Given the description of an element on the screen output the (x, y) to click on. 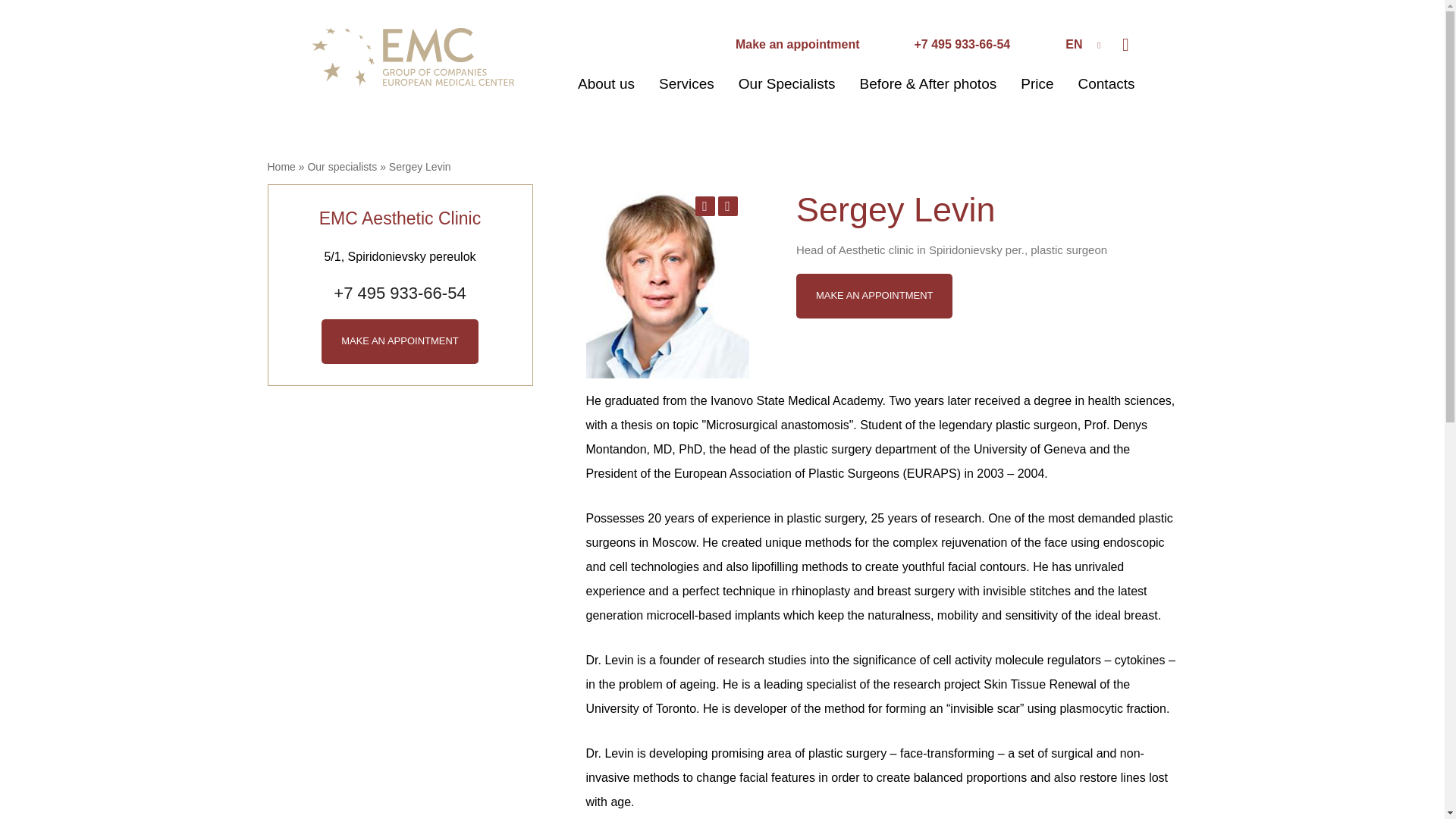
MAKE AN APPOINTMENT (400, 341)
Our Specialists (786, 83)
Services (686, 83)
Make an appointment (704, 206)
Search (1125, 45)
Ask a question (726, 206)
Home (411, 54)
MAKE AN APPOINTMENT (400, 341)
Home (280, 166)
